Given the description of an element on the screen output the (x, y) to click on. 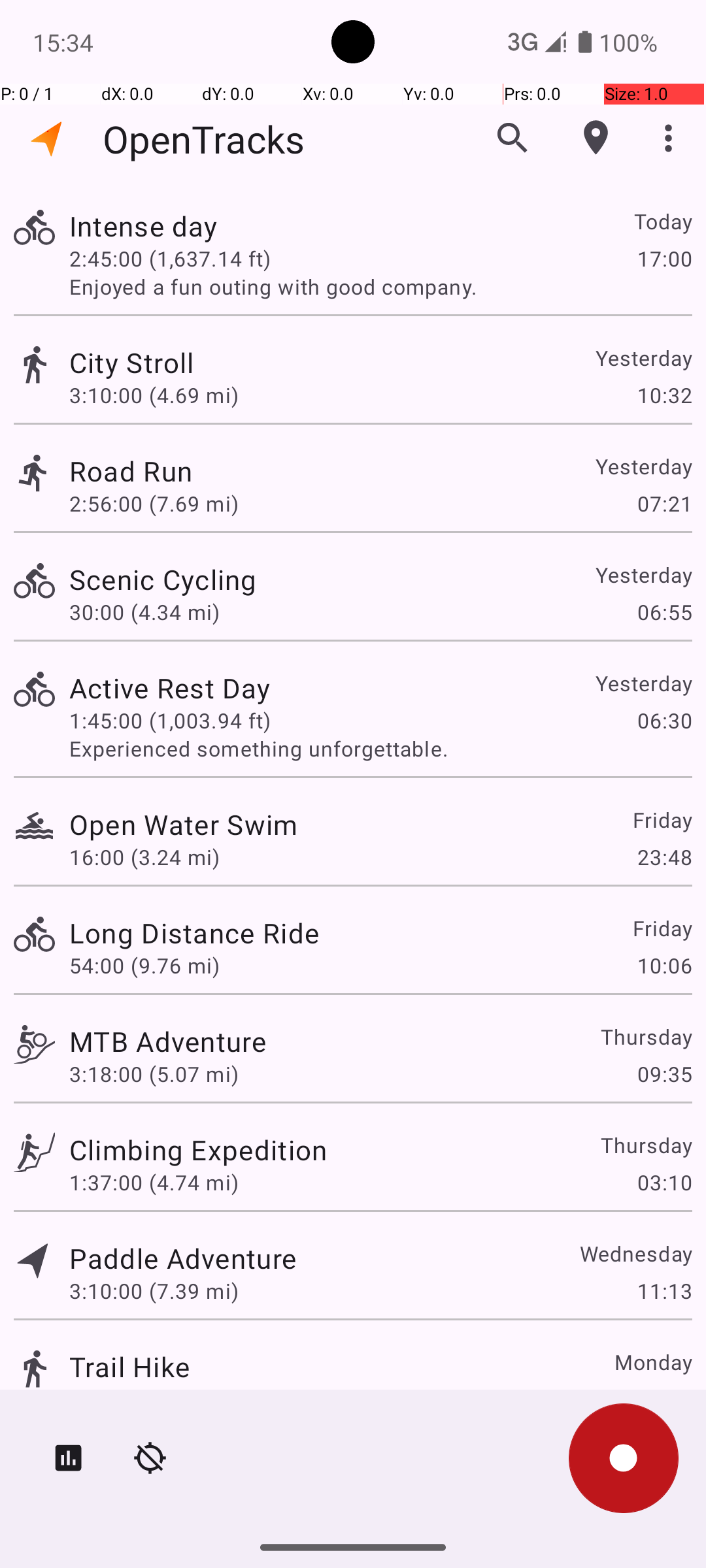
OpenTracks Element type: android.widget.TextView (203, 138)
Markers Element type: android.widget.Button (595, 137)
Record Element type: android.widget.ImageButton (623, 1458)
Track Element type: android.widget.ImageView (33, 227)
Intense day Element type: android.widget.TextView (143, 225)
Today Element type: android.widget.TextView (662, 221)
2:45:00 (1,637.14 ft) Element type: android.widget.TextView (169, 258)
17:00 Element type: android.widget.TextView (664, 258)
Enjoyed a fun outing with good company. Element type: android.widget.TextView (380, 286)
City Stroll Element type: android.widget.TextView (131, 361)
Yesterday Element type: android.widget.TextView (643, 357)
3:10:00 (4.69 mi) Element type: android.widget.TextView (153, 394)
10:32 Element type: android.widget.TextView (664, 394)
Road Run Element type: android.widget.TextView (130, 470)
2:56:00 (7.69 mi) Element type: android.widget.TextView (153, 503)
07:21 Element type: android.widget.TextView (664, 503)
Scenic Cycling Element type: android.widget.TextView (162, 578)
30:00 (4.34 mi) Element type: android.widget.TextView (144, 611)
06:55 Element type: android.widget.TextView (664, 611)
Active Rest Day Element type: android.widget.TextView (169, 687)
1:45:00 (1,003.94 ft) Element type: android.widget.TextView (169, 720)
06:30 Element type: android.widget.TextView (664, 720)
Experienced something unforgettable. Element type: android.widget.TextView (380, 748)
Open Water Swim Element type: android.widget.TextView (183, 823)
Friday Element type: android.widget.TextView (661, 819)
16:00 (3.24 mi) Element type: android.widget.TextView (144, 856)
23:48 Element type: android.widget.TextView (664, 856)
Long Distance Ride Element type: android.widget.TextView (193, 932)
54:00 (9.76 mi) Element type: android.widget.TextView (144, 965)
10:06 Element type: android.widget.TextView (664, 965)
MTB Adventure Element type: android.widget.TextView (167, 1040)
Thursday Element type: android.widget.TextView (645, 1036)
3:18:00 (5.07 mi) Element type: android.widget.TextView (153, 1073)
09:35 Element type: android.widget.TextView (664, 1073)
Climbing Expedition Element type: android.widget.TextView (197, 1149)
1:37:00 (4.74 mi) Element type: android.widget.TextView (153, 1182)
03:10 Element type: android.widget.TextView (664, 1182)
Paddle Adventure Element type: android.widget.TextView (182, 1257)
Wednesday Element type: android.widget.TextView (635, 1253)
3:10:00 (7.39 mi) Element type: android.widget.TextView (153, 1290)
11:13 Element type: android.widget.TextView (664, 1290)
Trail Hike Element type: android.widget.TextView (129, 1366)
Monday Element type: android.widget.TextView (652, 1361)
3:41:00 (12.10 mi) Element type: android.widget.TextView (159, 1399)
21:41 Element type: android.widget.TextView (664, 1399)
